Given the description of an element on the screen output the (x, y) to click on. 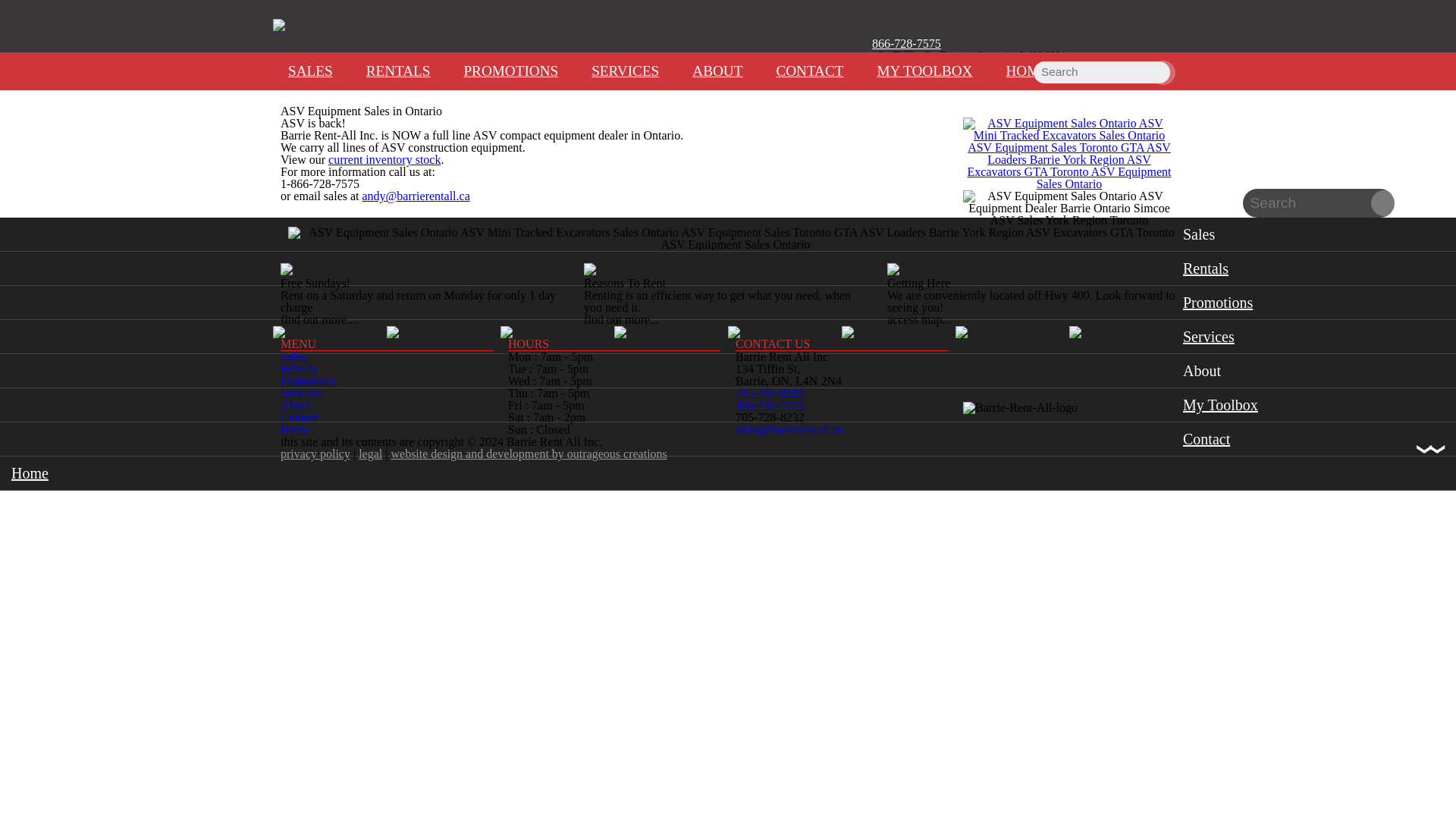
COVID-19 (899, 56)
RENTALS (397, 71)
Barrie Rentall Equipment Rentals (735, 238)
SALES (310, 71)
866-728-7575 (906, 42)
